Given the description of an element on the screen output the (x, y) to click on. 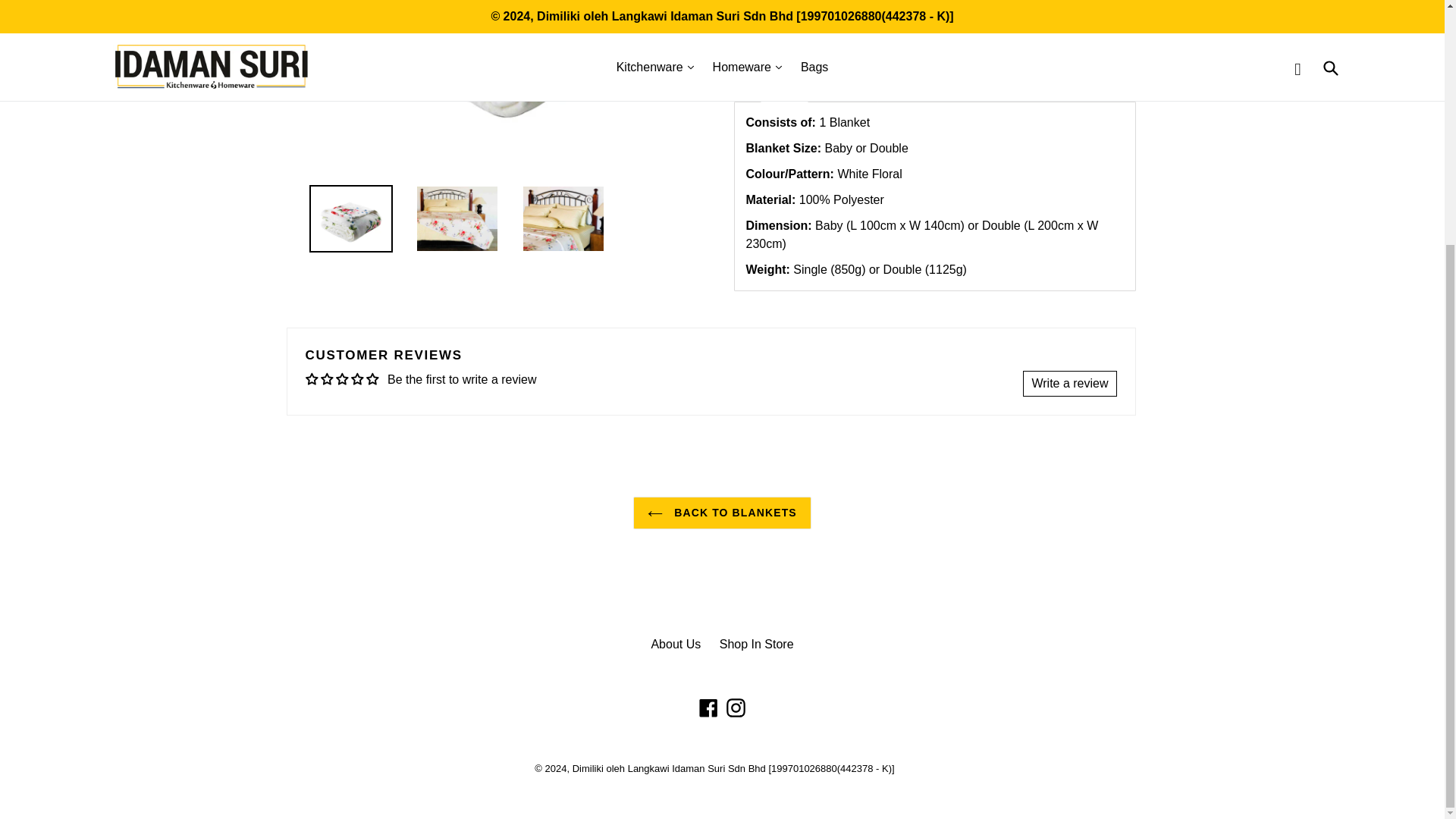
IDAMAN SURI on Instagram (735, 707)
IDAMAN SURI on Facebook (708, 707)
